Given the description of an element on the screen output the (x, y) to click on. 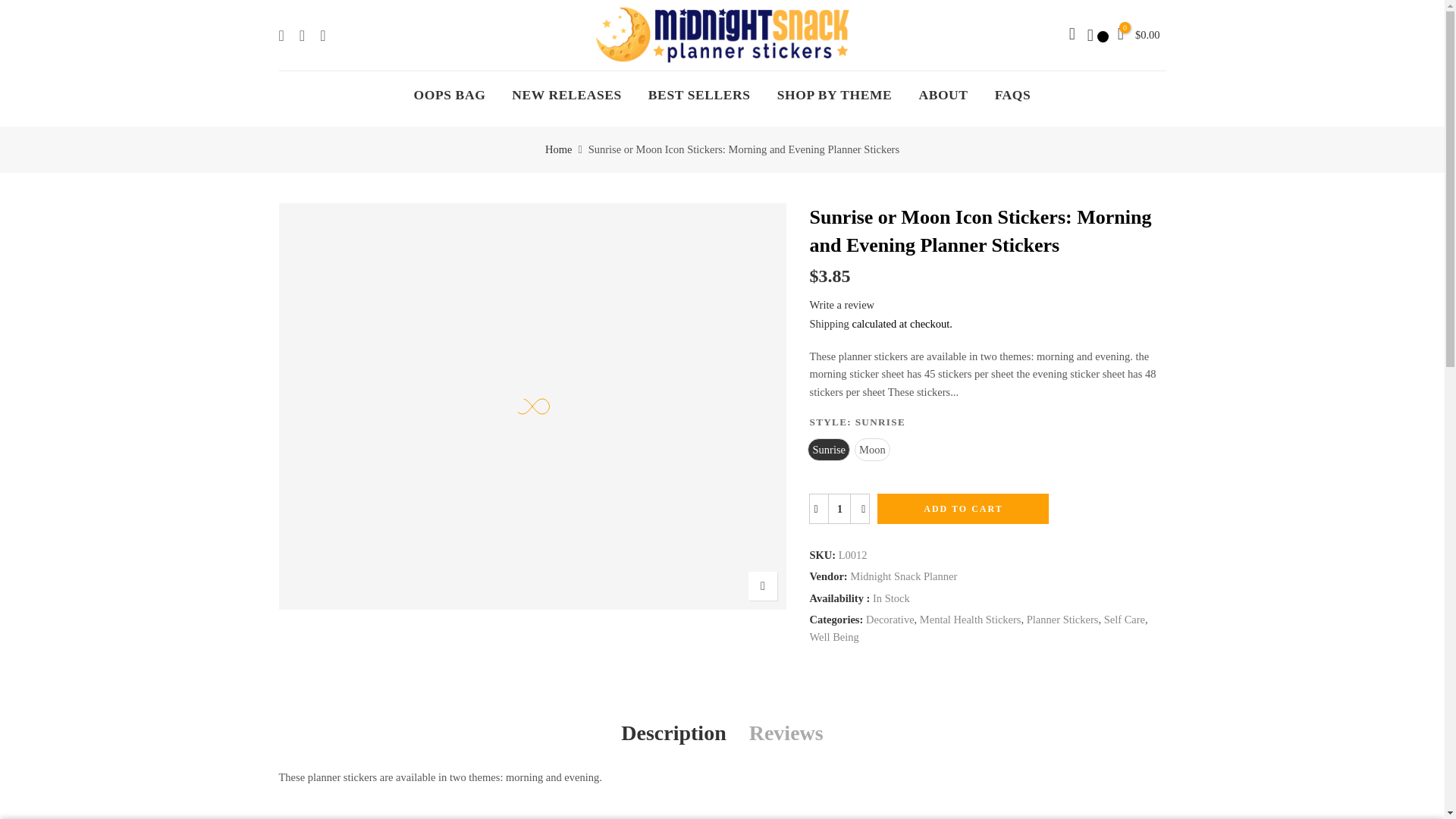
SHOP BY THEME (833, 94)
OOPS BAG (449, 94)
NEW RELEASES (566, 94)
BEST SELLERS (698, 94)
Midnight Snack Planner (903, 576)
